Given the description of an element on the screen output the (x, y) to click on. 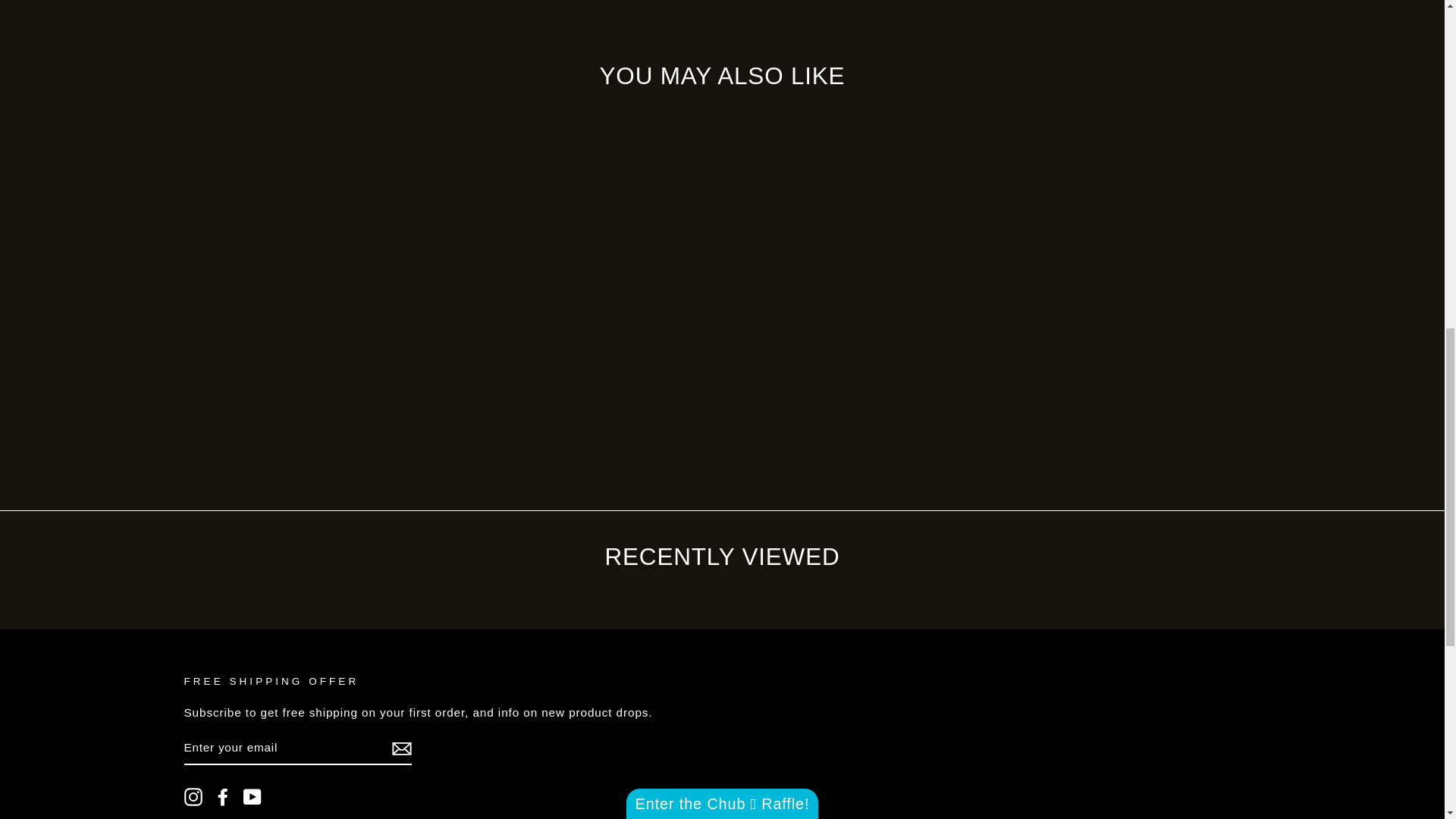
Chub Cruisers on YouTube (251, 796)
Chub Cruisers on Facebook (222, 796)
Chub Cruisers on Instagram (192, 796)
